Given the description of an element on the screen output the (x, y) to click on. 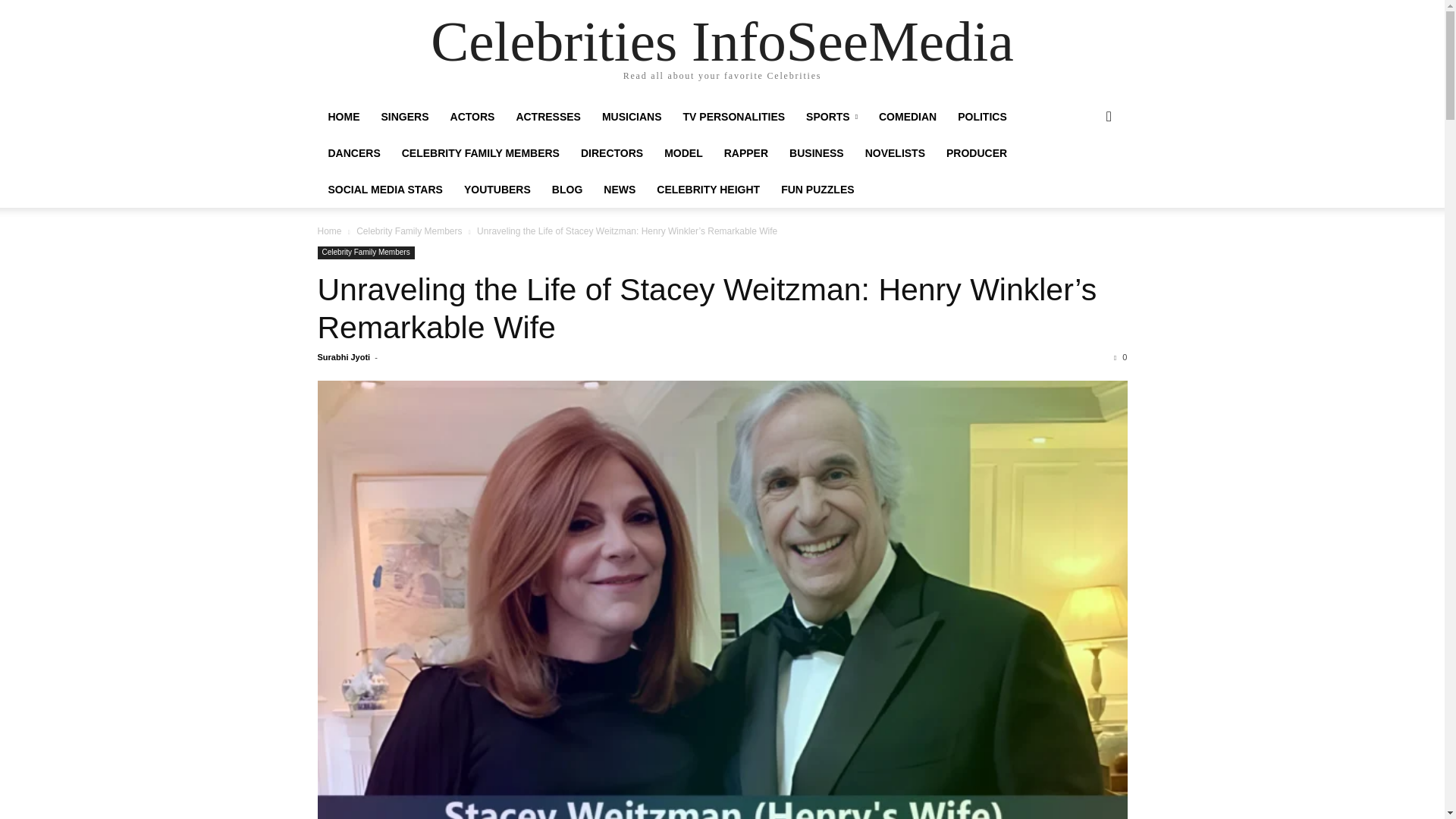
HOME (343, 116)
TV PERSONALITIES (734, 116)
MUSICIANS (631, 116)
Celebrities InfoSeeMedia (721, 41)
View all posts in Celebrity Family Members (408, 231)
ACTRESSES (548, 116)
ACTORS (472, 116)
SINGERS (404, 116)
